Given the description of an element on the screen output the (x, y) to click on. 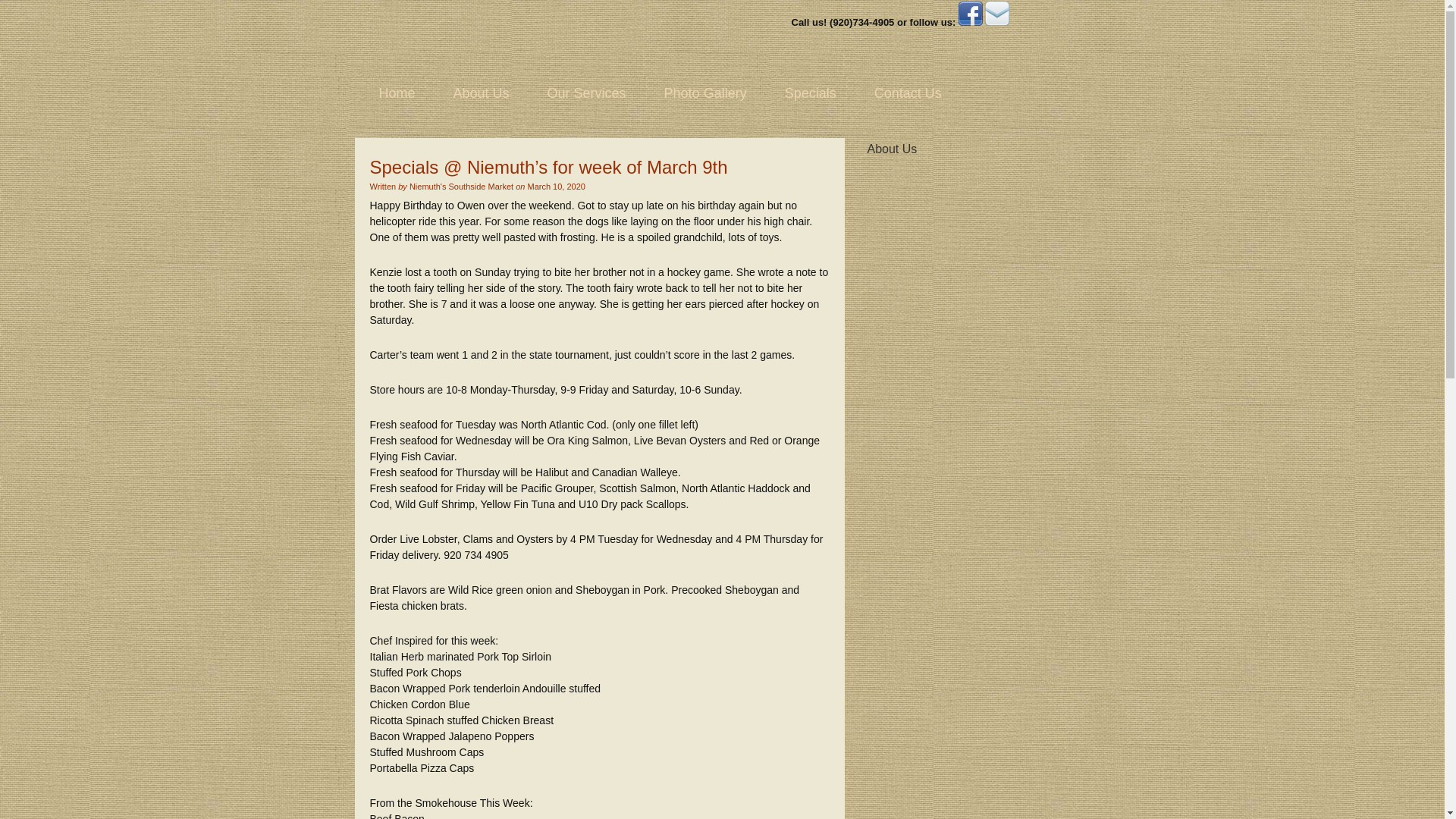
Photo Gallery (705, 92)
About Us (480, 92)
Niemuth's Southside Market (468, 36)
Niemuth's Southside Market (468, 36)
Specials (810, 92)
2020-03-10T20:42:35-0500 (556, 185)
Our Services (586, 92)
Niemuth's Southside Market (461, 185)
Home (396, 92)
Contact Us (908, 92)
